Given the description of an element on the screen output the (x, y) to click on. 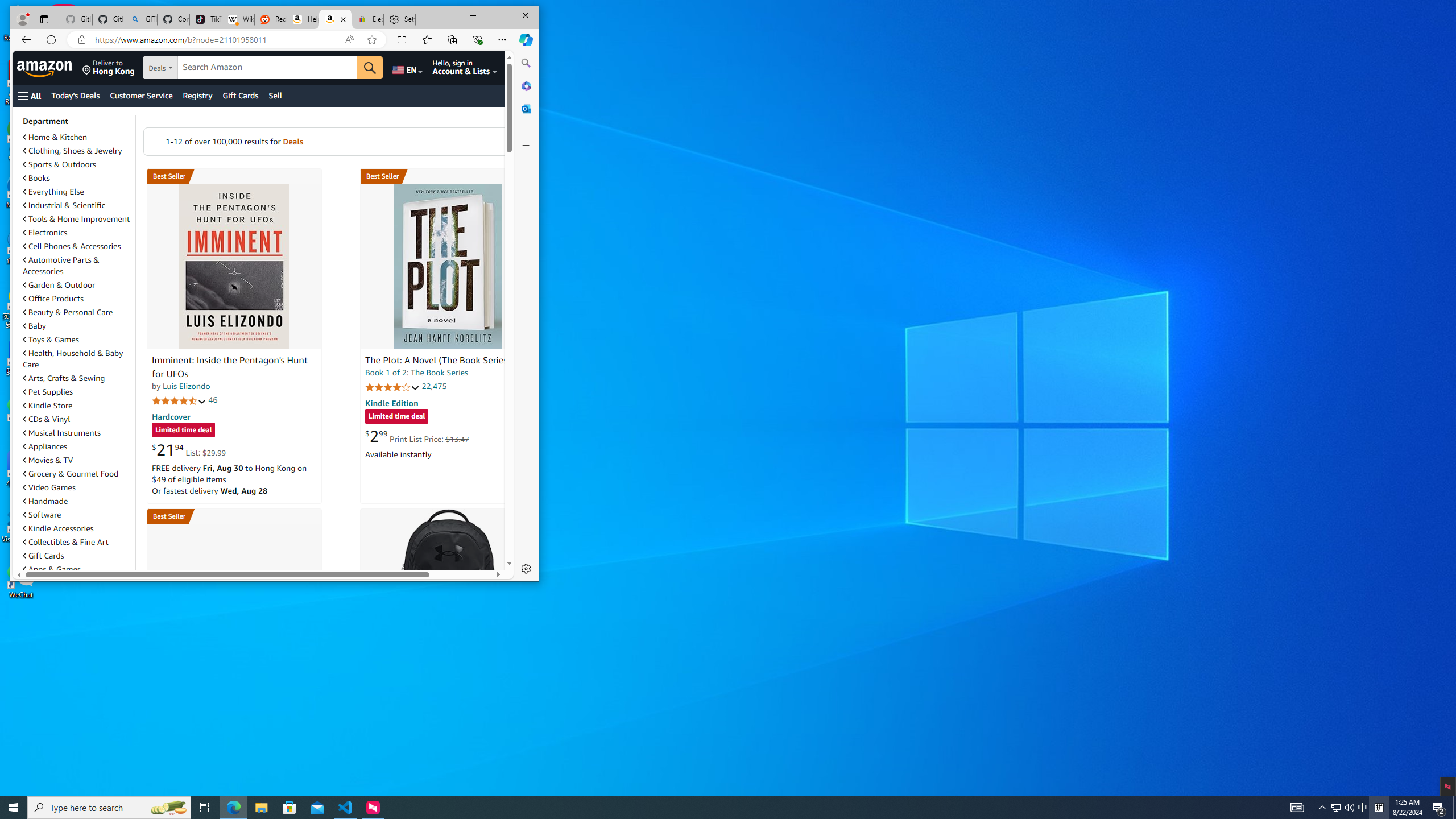
Arts, Crafts & Sewing (77, 378)
Luis Elizondo (186, 385)
$2.99 Print List Price: $13.47 (416, 435)
Customer Service (140, 95)
Limited time deal (397, 416)
Amazon (1335, 807)
Go (45, 67)
Apps & Games (369, 67)
CDs & Vinyl (51, 569)
Microsoft Edge - 1 running window (77, 419)
Registry (233, 807)
Close Outlook pane (197, 95)
